Given the description of an element on the screen output the (x, y) to click on. 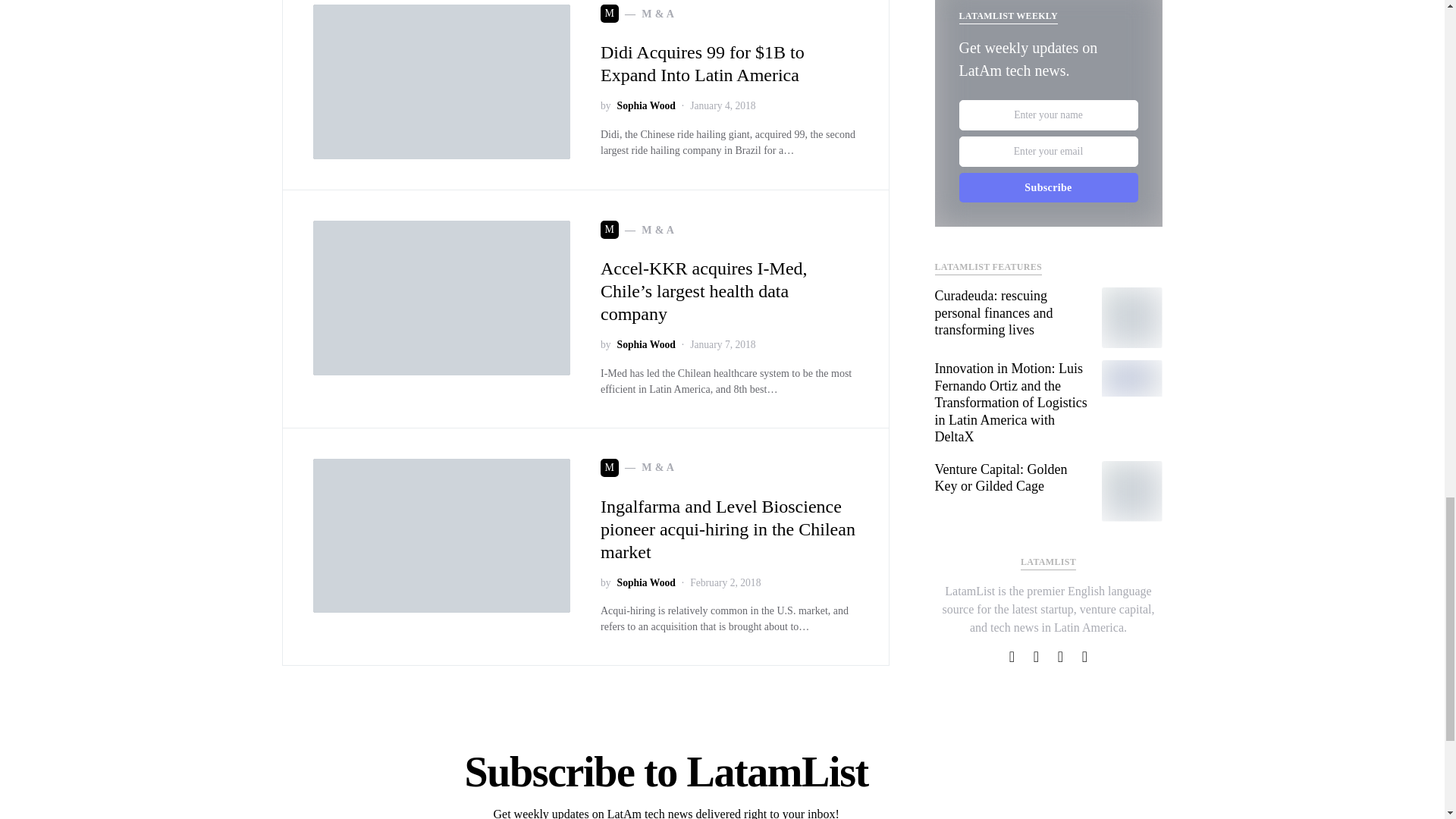
View all posts by Sophia Wood (646, 344)
View all posts by Sophia Wood (646, 105)
View all posts by Sophia Wood (646, 582)
